Given the description of an element on the screen output the (x, y) to click on. 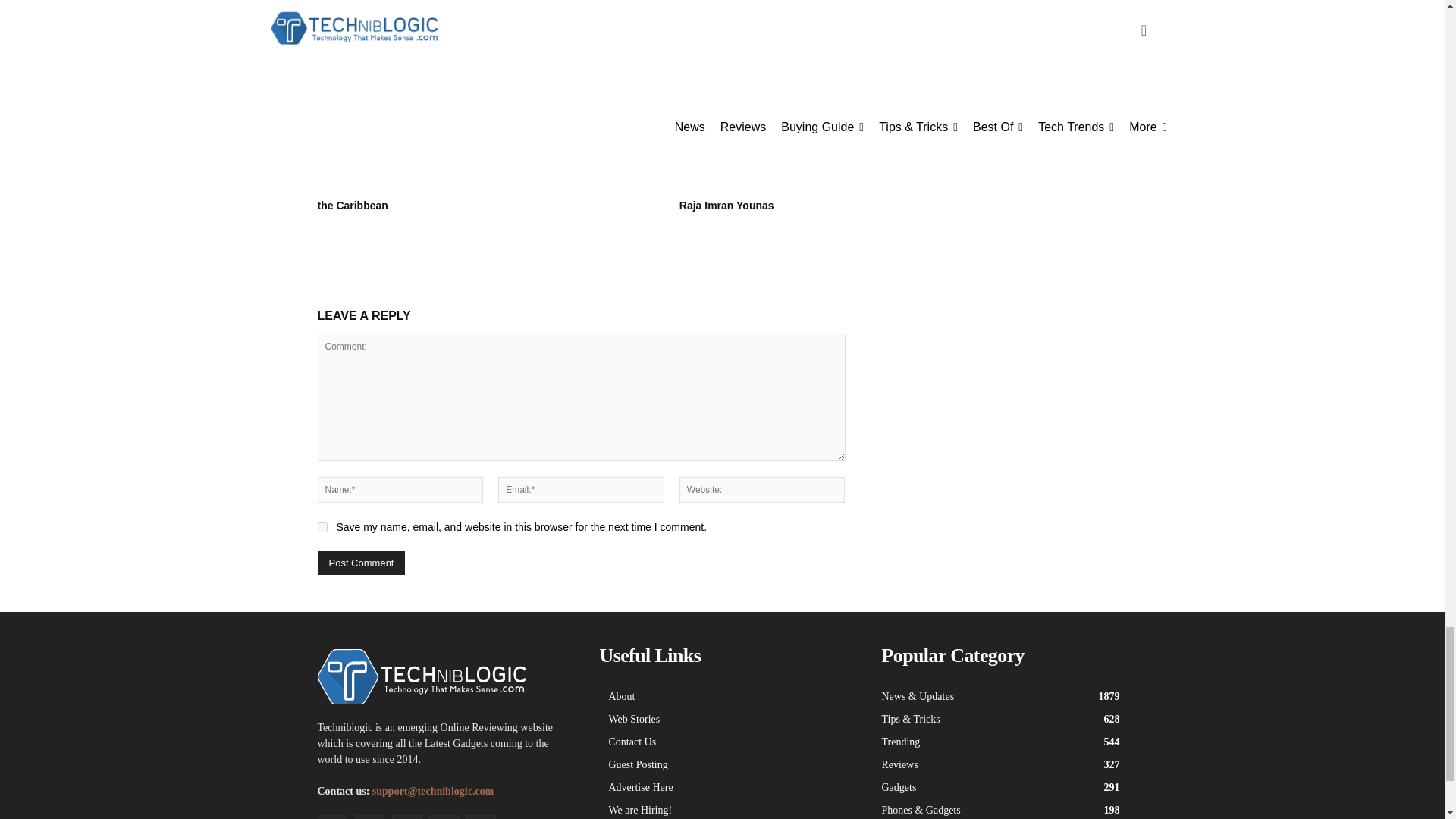
Post Comment (360, 562)
yes (321, 527)
